Given the description of an element on the screen output the (x, y) to click on. 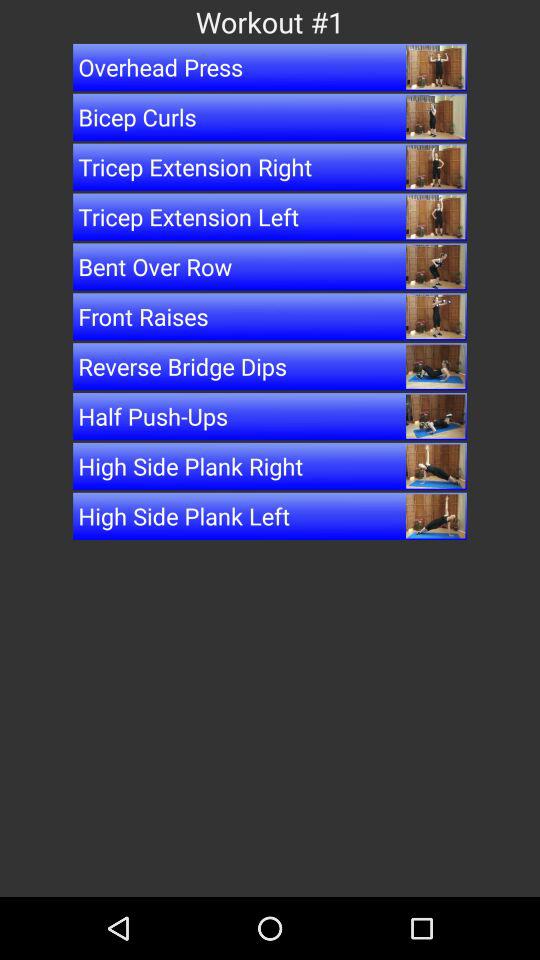
choose item above the front raises button (269, 266)
